Given the description of an element on the screen output the (x, y) to click on. 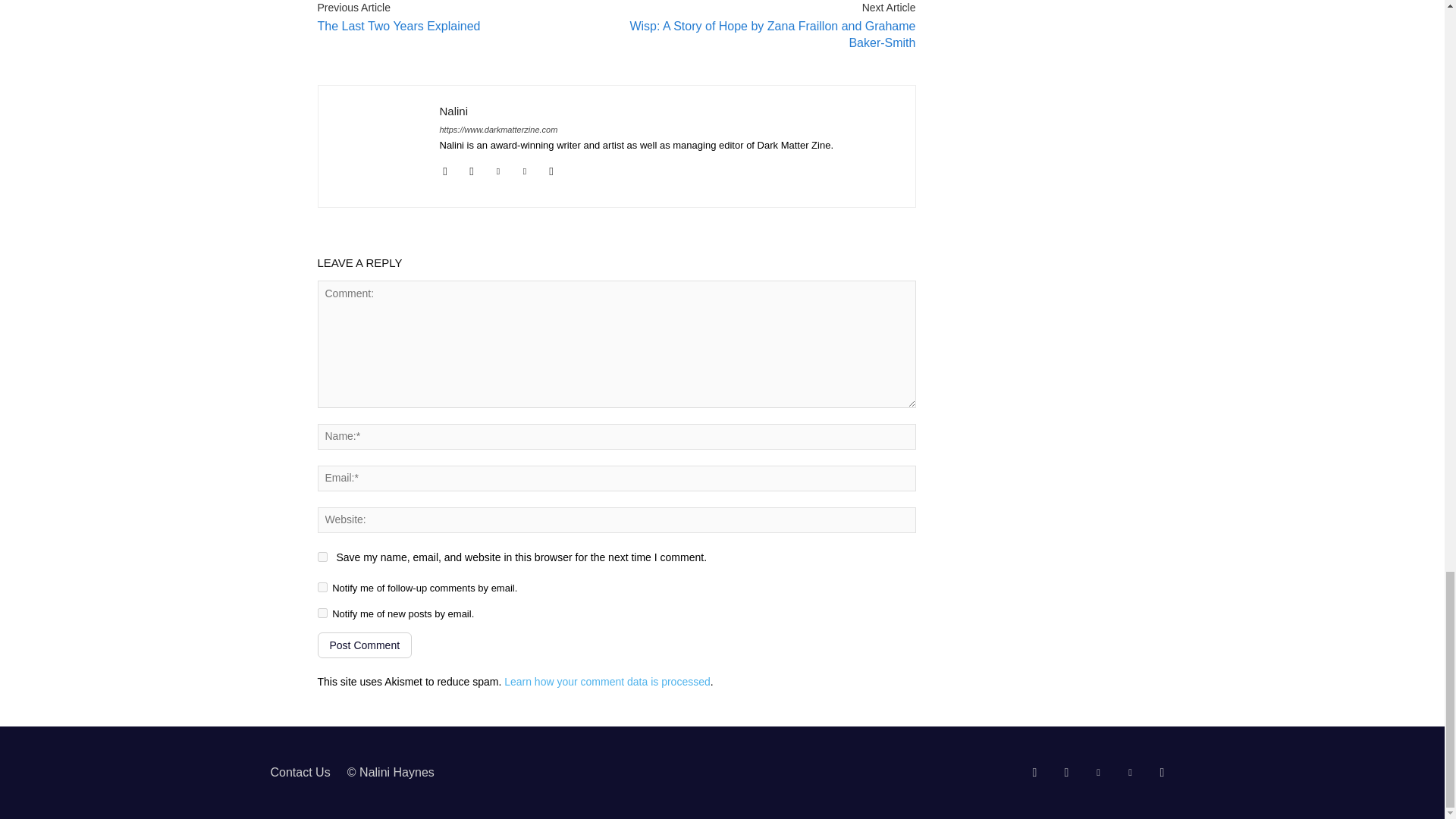
subscribe (321, 613)
subscribe (321, 587)
yes (321, 556)
Post Comment (364, 645)
